Given the description of an element on the screen output the (x, y) to click on. 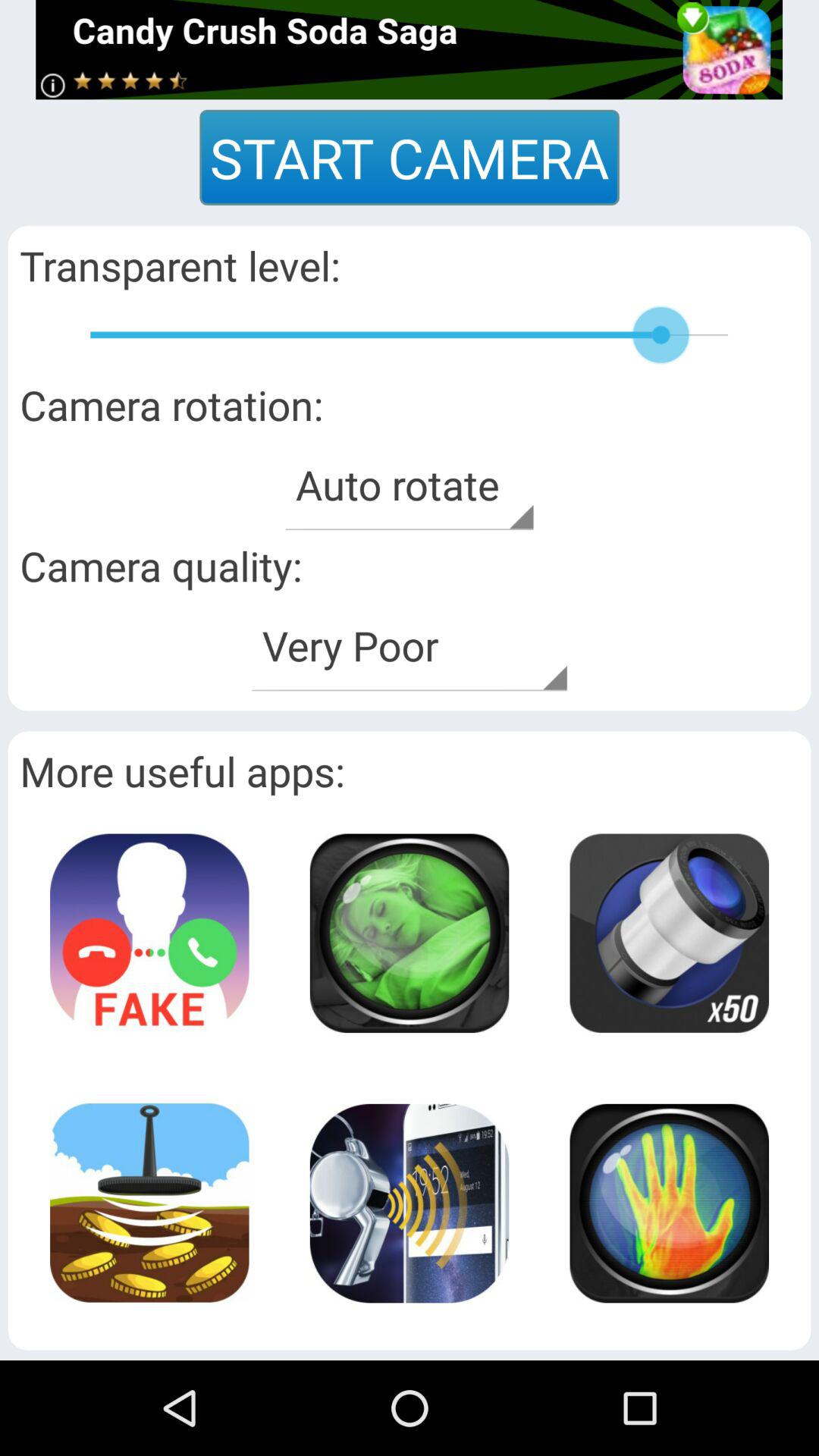
advertisement area (668, 1202)
